Given the description of an element on the screen output the (x, y) to click on. 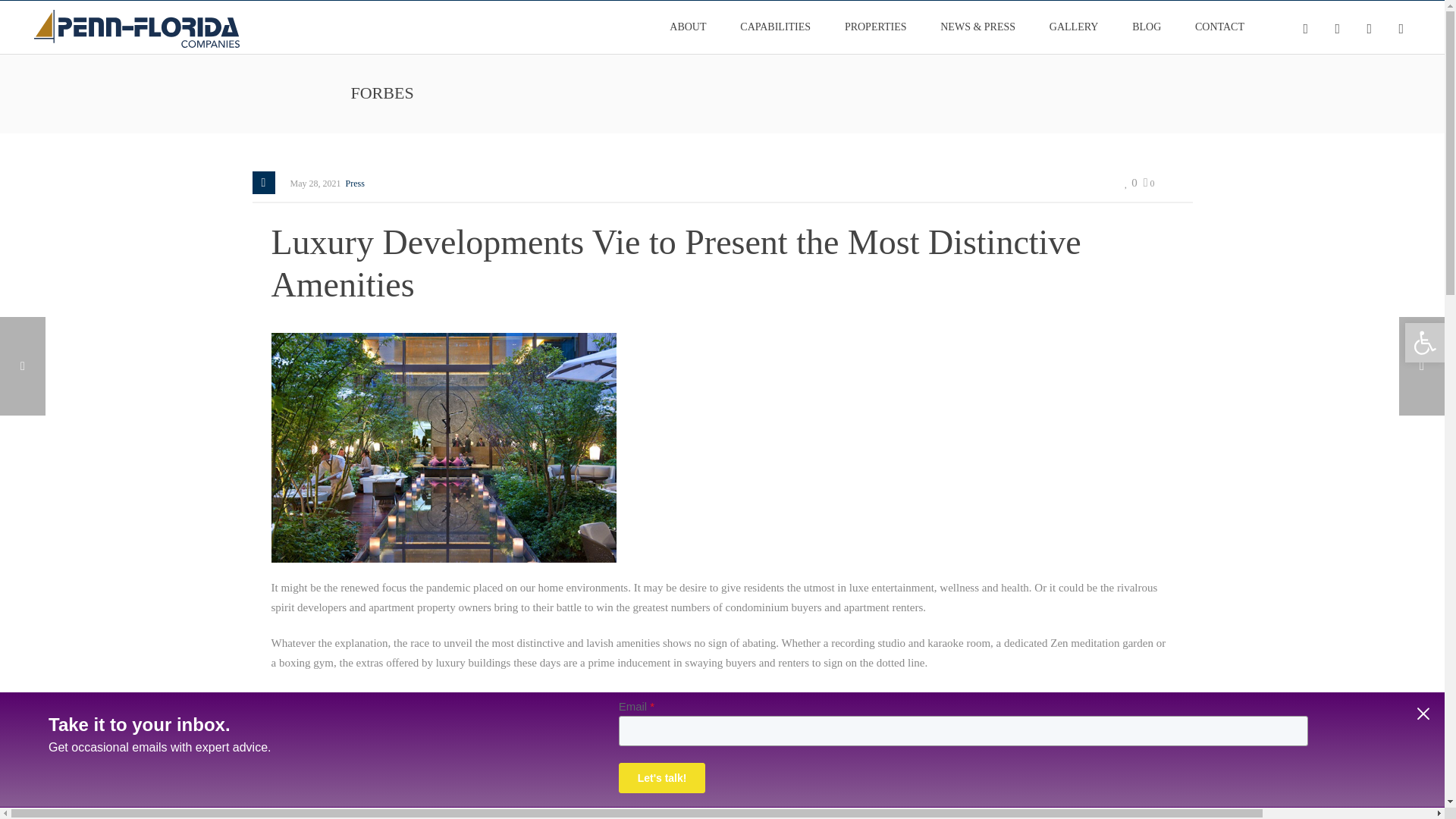
Penn-Florida Companies (136, 27)
ABOUT (686, 27)
CAPABILITIES (775, 27)
Accessibility Tools (1424, 342)
CONTACT (1219, 27)
